Given the description of an element on the screen output the (x, y) to click on. 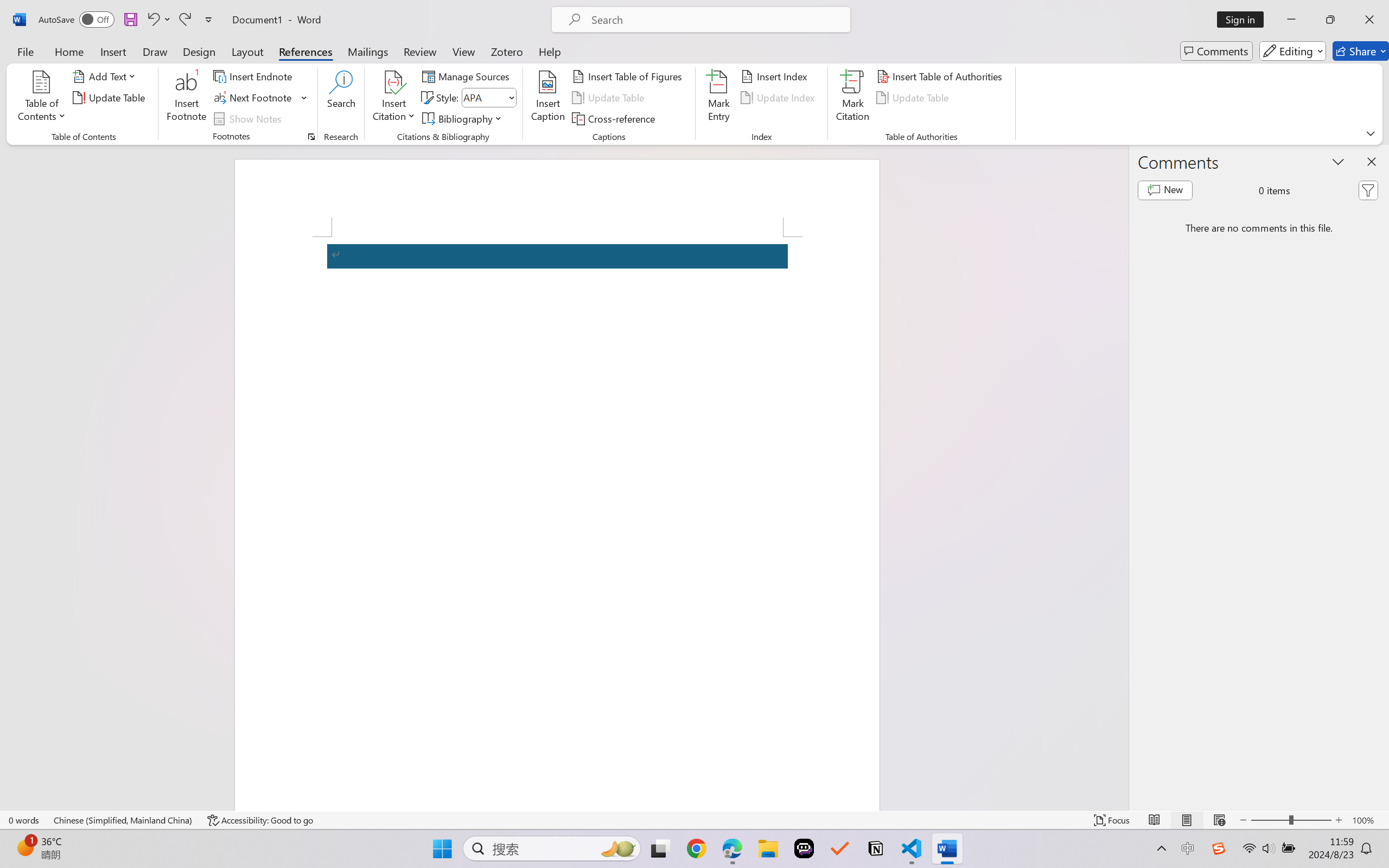
Bibliography (463, 118)
Insert Table of Authorities... (941, 75)
Insert Footnote (186, 97)
Manage Sources... (467, 75)
Table of Contents (42, 97)
Filter (1367, 190)
Next Footnote (260, 97)
Style (483, 96)
Language Chinese (Simplified, Mainland China) (123, 819)
Redo Apply Quick Style (184, 19)
